Given the description of an element on the screen output the (x, y) to click on. 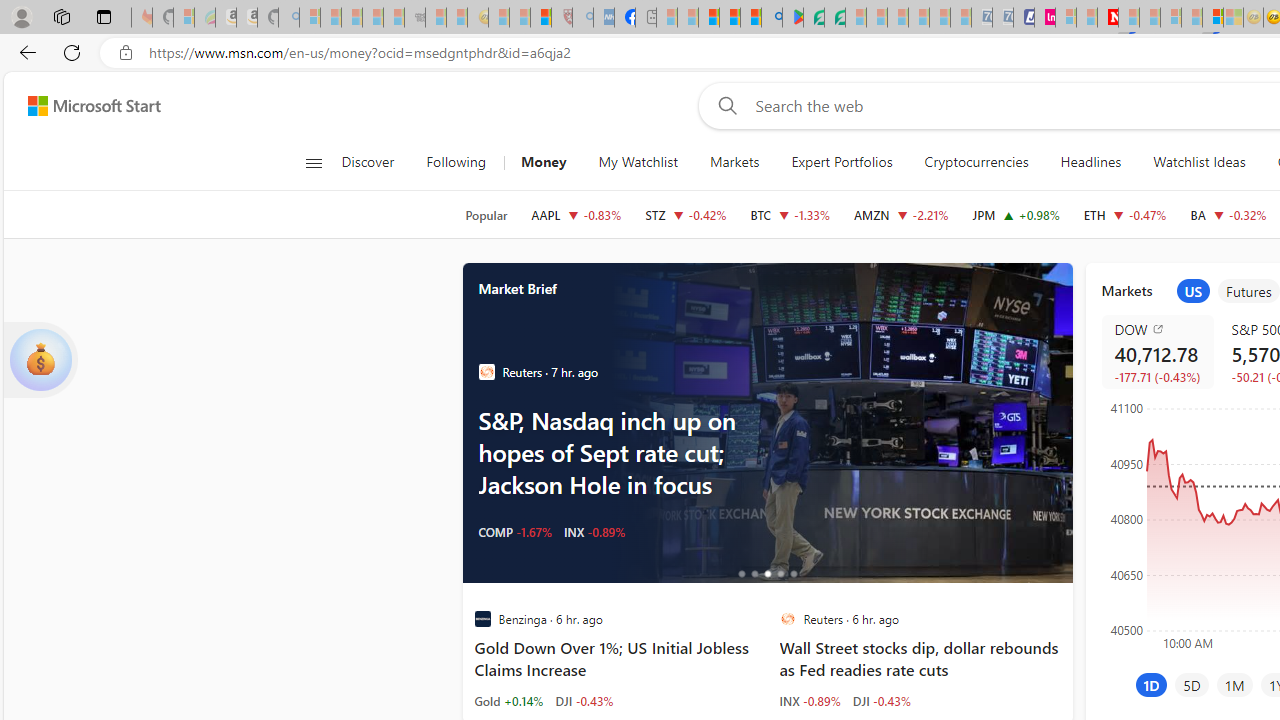
Popular (486, 215)
1D (1151, 684)
Pets - MSN (729, 17)
Cryptocurrencies (975, 162)
Watchlist Ideas (1199, 162)
Watchlist Ideas (1199, 162)
Bluey: Let's Play! - Apps on Google Play (792, 17)
BTC Bitcoin decrease 60,500.89 -806.48 -1.33% (790, 214)
Markets (734, 162)
